Given the description of an element on the screen output the (x, y) to click on. 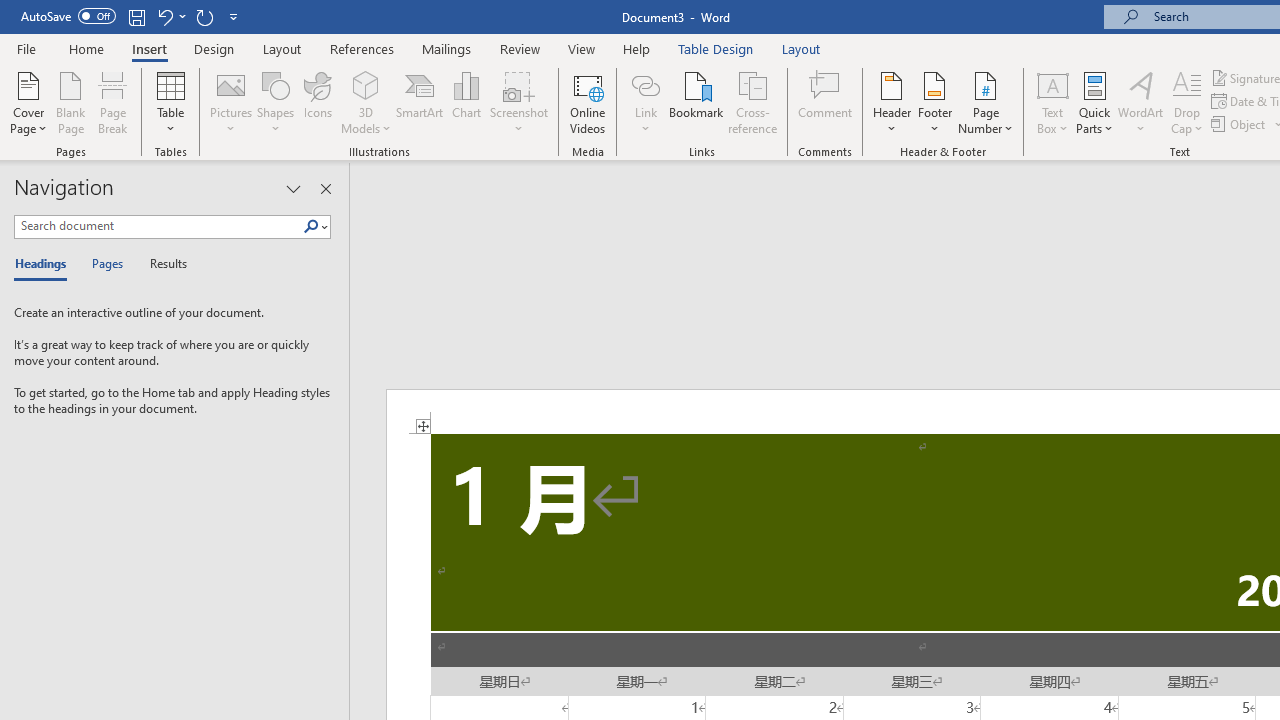
Search (311, 227)
3D Models (366, 102)
Drop Cap (1187, 102)
Shapes (275, 102)
Quick Access Toolbar (131, 16)
Icons (317, 102)
Page Number (986, 102)
Bookmark... (695, 102)
Comment (825, 102)
Text Box (1052, 102)
AutoSave (68, 16)
Layout (801, 48)
Search document (157, 226)
